Given the description of an element on the screen output the (x, y) to click on. 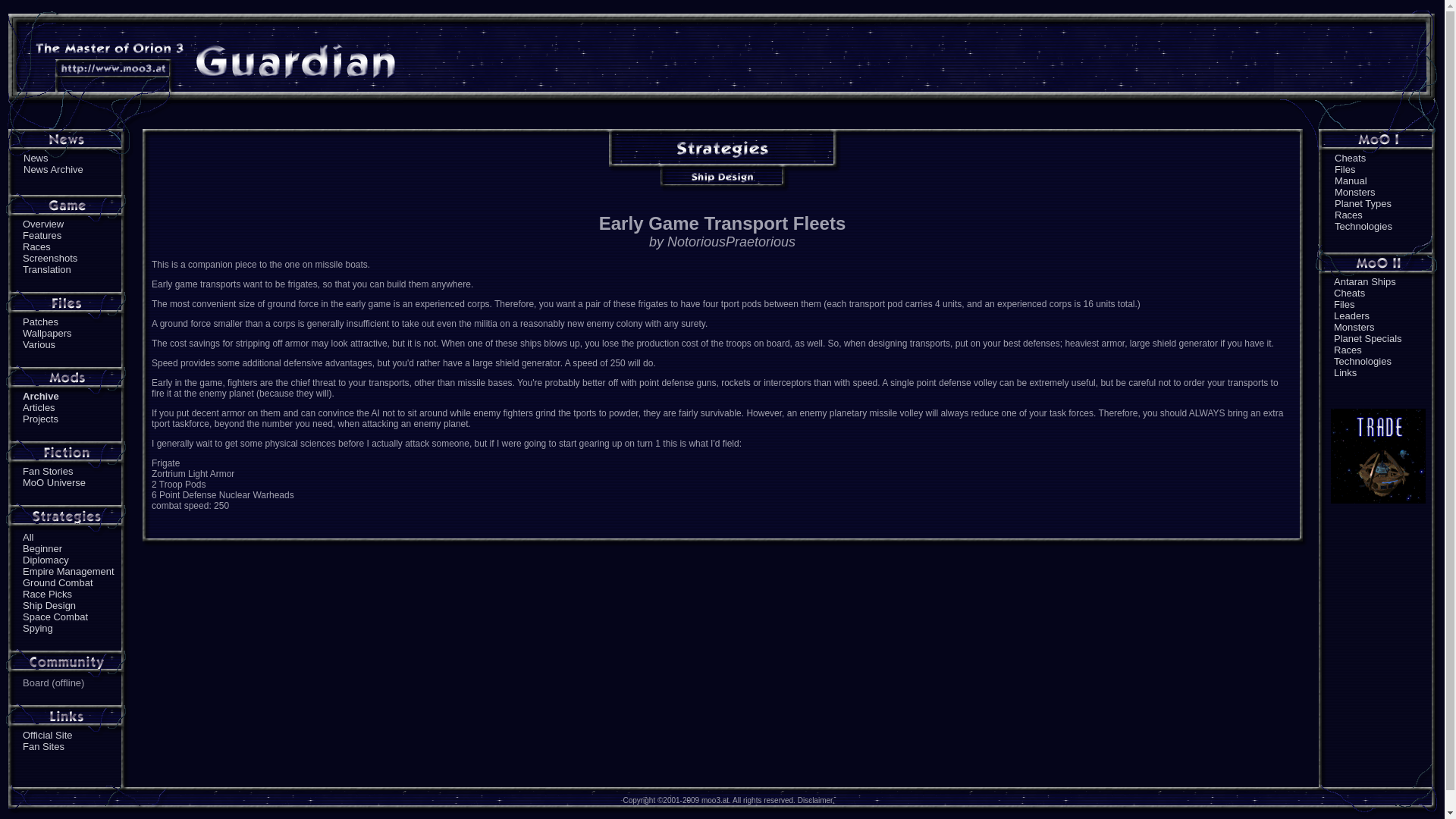
Monsters (1353, 326)
All (28, 536)
Empire Management (69, 571)
Fan Stories (47, 471)
Races (36, 246)
Races (1348, 214)
Articles (39, 407)
News Archive (52, 169)
Antaran Ships (1364, 281)
Ship Design (49, 604)
Files (1343, 304)
Spying (37, 627)
Beginner (42, 548)
Technologies (1363, 225)
Cheats (1349, 292)
